Given the description of an element on the screen output the (x, y) to click on. 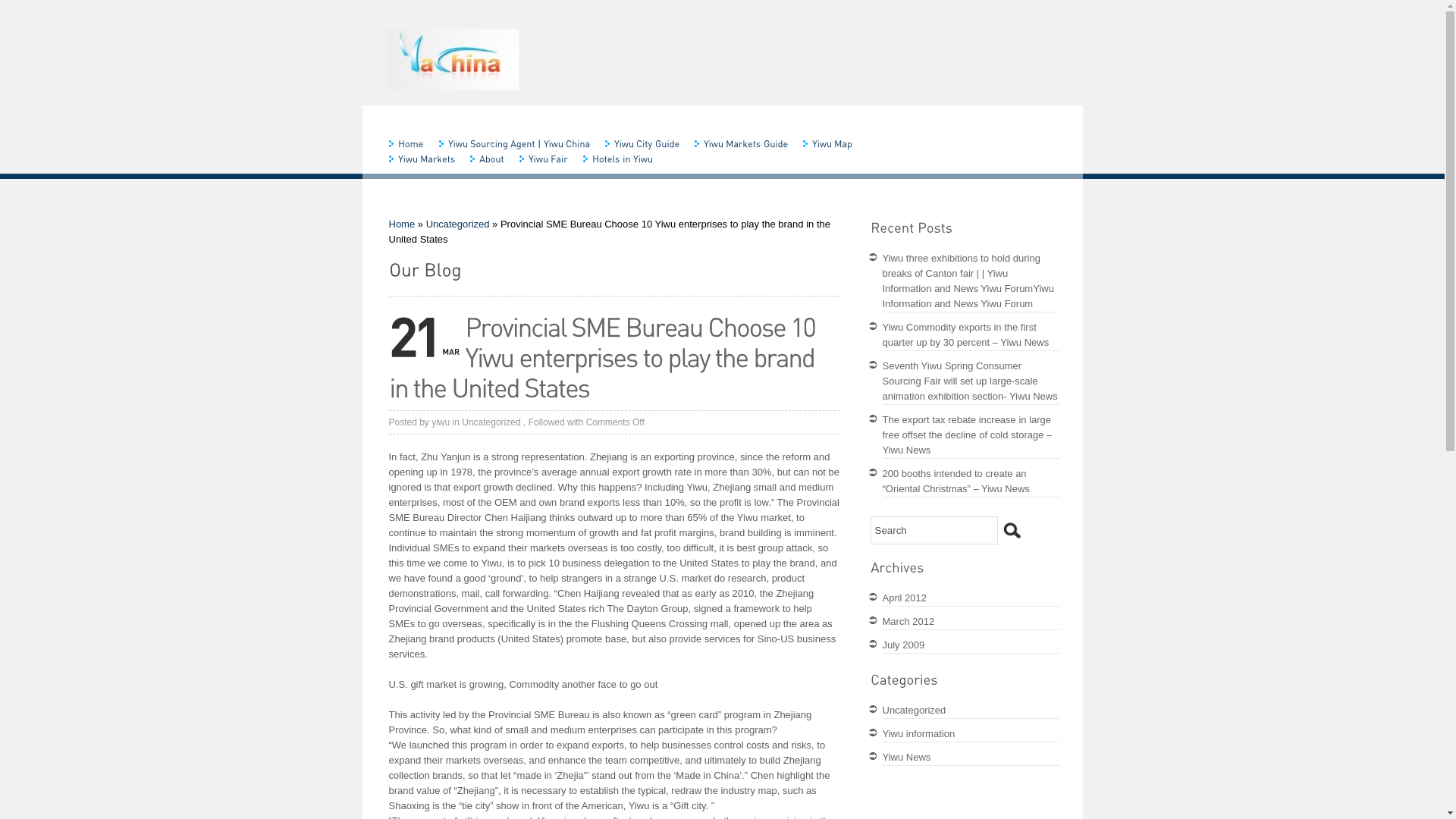
Search Element type: text (1011, 529)
March 2012 Element type: text (908, 621)
Yiwu information Element type: text (918, 733)
yiwu Element type: text (440, 422)
July 2009 Element type: text (903, 643)
Uncategorized Element type: text (490, 422)
Yiwu News Element type: text (906, 756)
Uncategorized Element type: text (457, 223)
April 2012 Element type: text (904, 596)
Home Element type: text (401, 223)
Uncategorized Element type: text (914, 709)
